Given the description of an element on the screen output the (x, y) to click on. 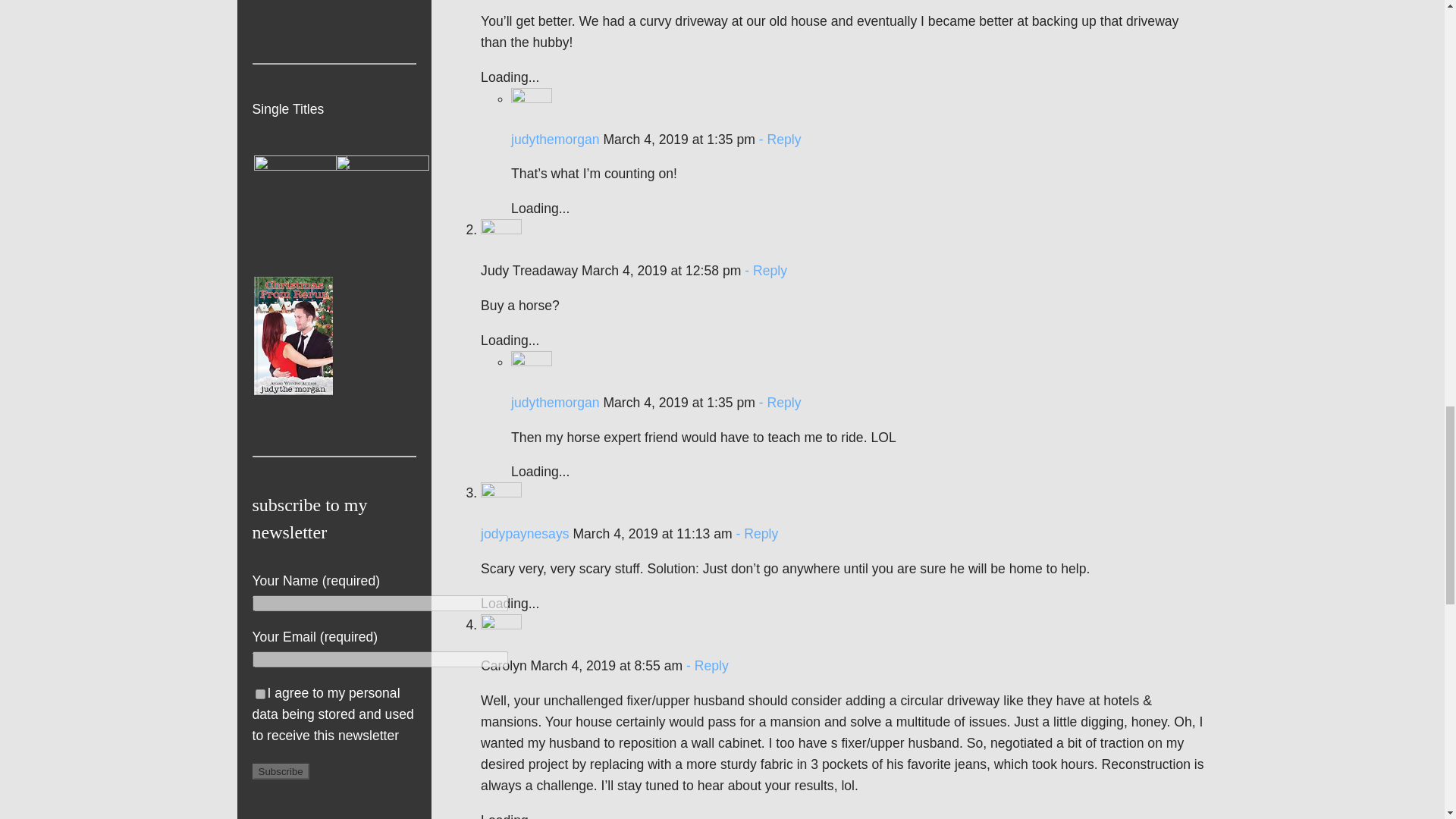
Subscribe (279, 771)
jodypaynesays (524, 533)
- Reply (778, 402)
judythemorgan (554, 402)
- Reply (764, 270)
- Reply (778, 139)
judythemorgan (554, 139)
- Reply (755, 533)
